Given the description of an element on the screen output the (x, y) to click on. 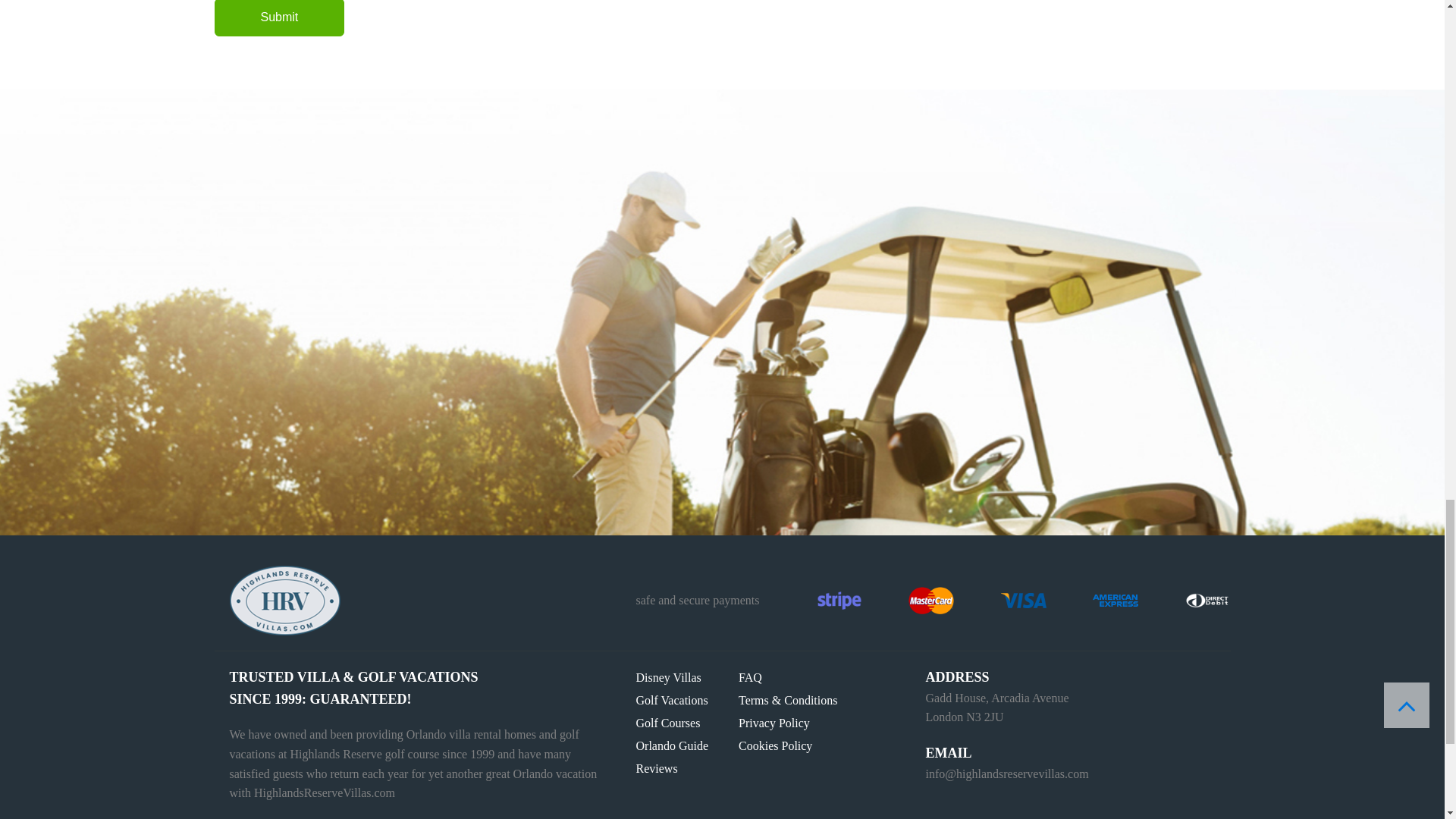
Submit (278, 18)
